Given the description of an element on the screen output the (x, y) to click on. 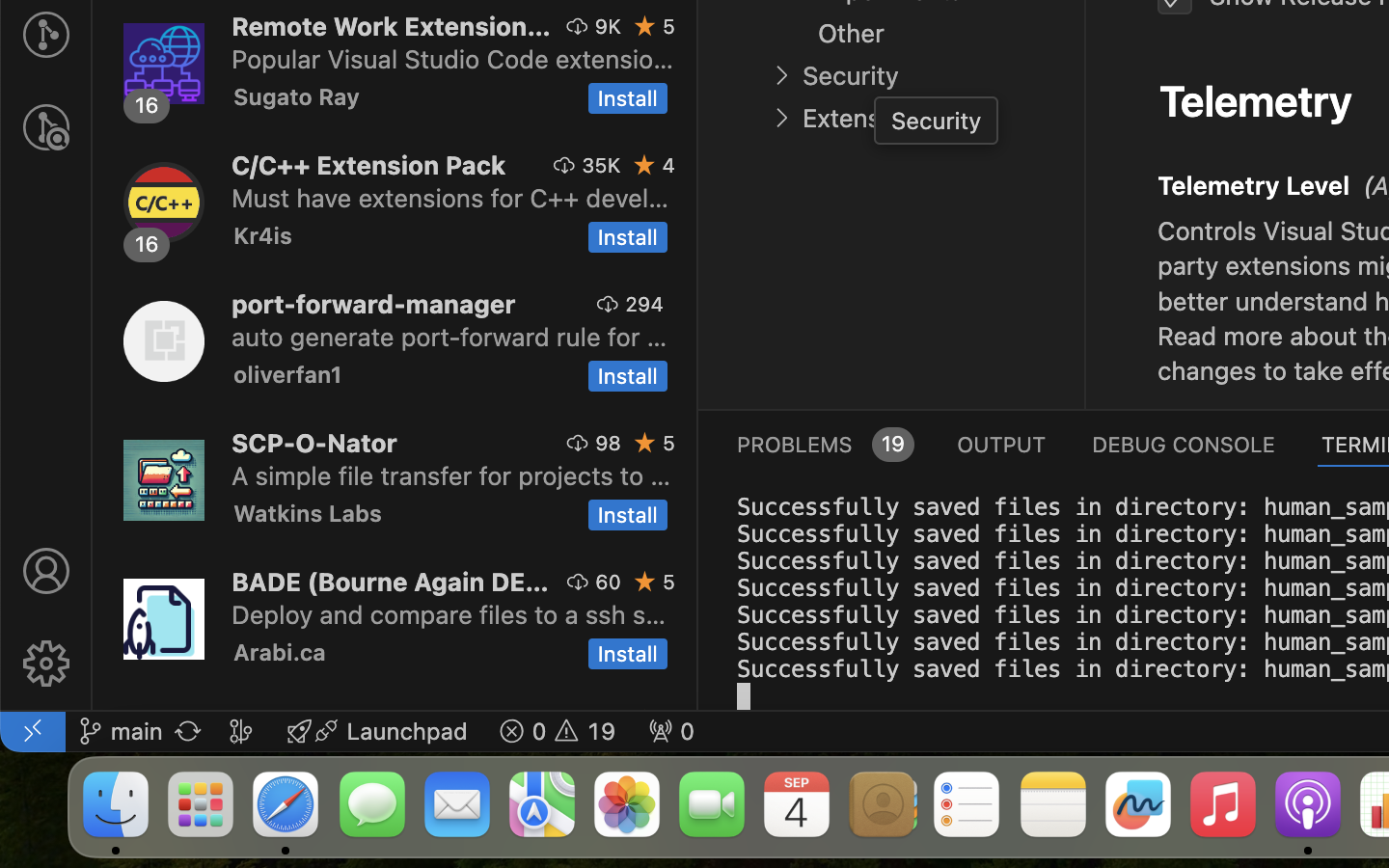
Remote Work Extension Pack Element type: AXStaticText (391, 25)
 Element type: AXGroup (46, 570)
Popular Visual Studio Code extensions for Remote Work Element type: AXStaticText (453, 58)
A simple file transfer for projects to and from servers suporting scp (ssh file transfer). Element type: AXStaticText (451, 475)
Extensions Element type: AXStaticText (865, 118)
